Given the description of an element on the screen output the (x, y) to click on. 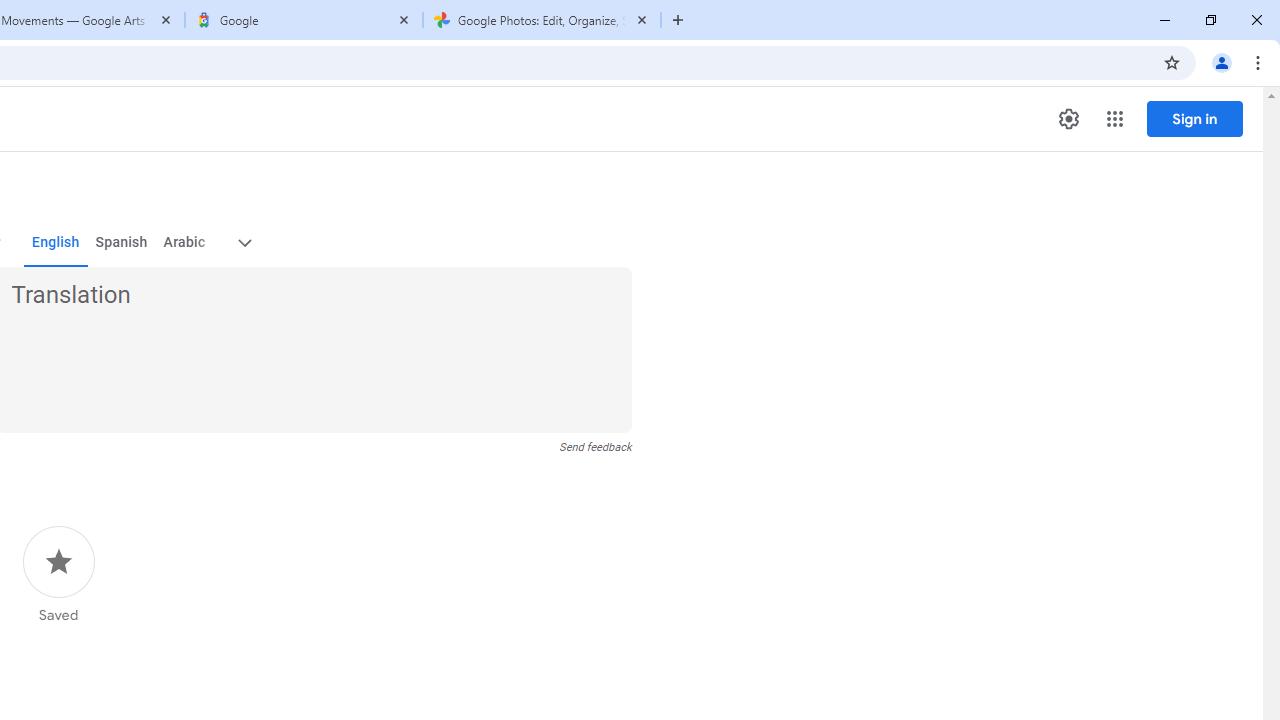
More target languages (244, 242)
Send feedback (595, 447)
Arabic (183, 242)
English (55, 242)
Google (304, 20)
Spanish (121, 242)
Saved (57, 575)
